Given the description of an element on the screen output the (x, y) to click on. 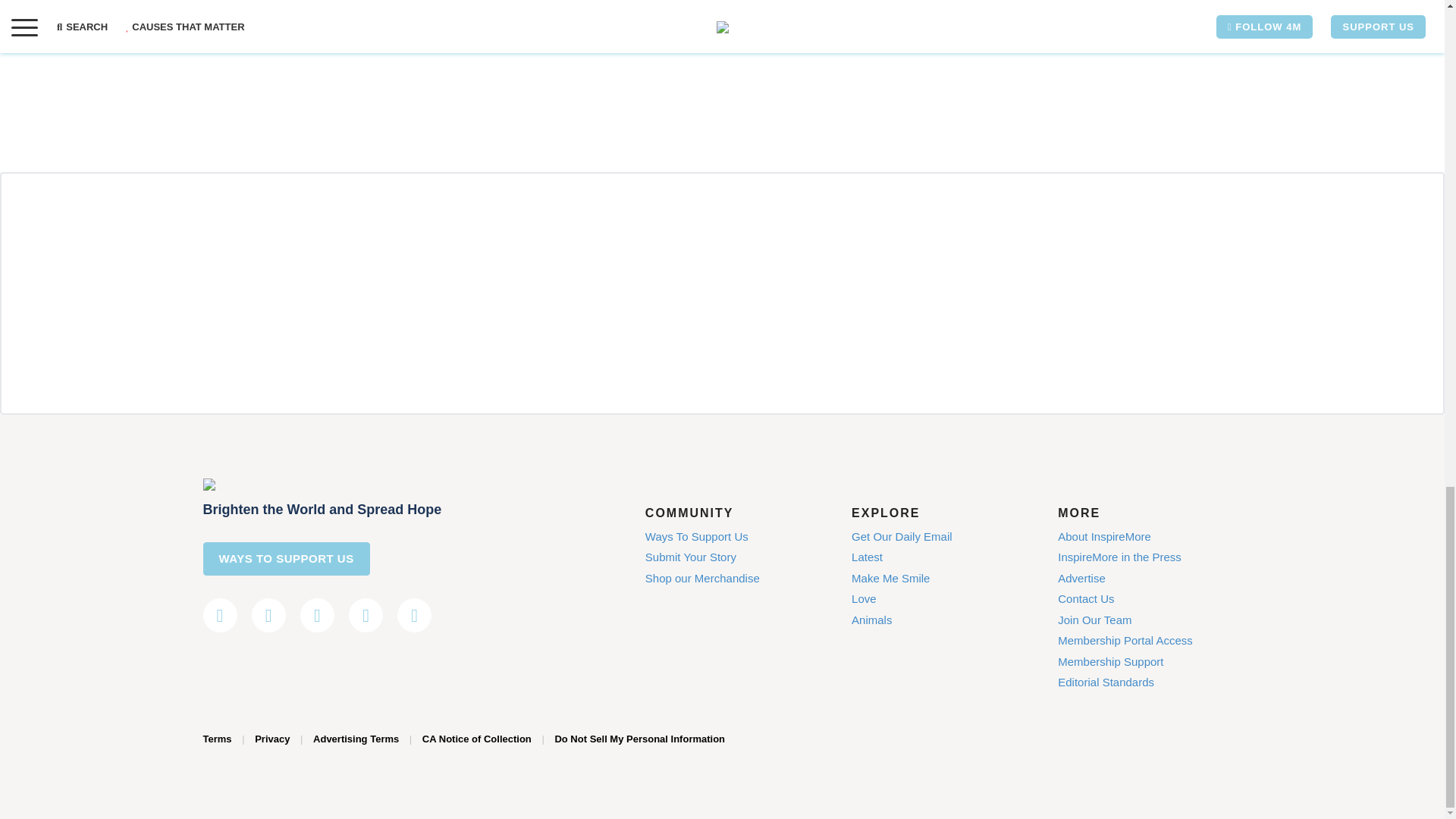
WAYS TO SUPPORT US (286, 558)
Ways To Support Us (696, 535)
